Given the description of an element on the screen output the (x, y) to click on. 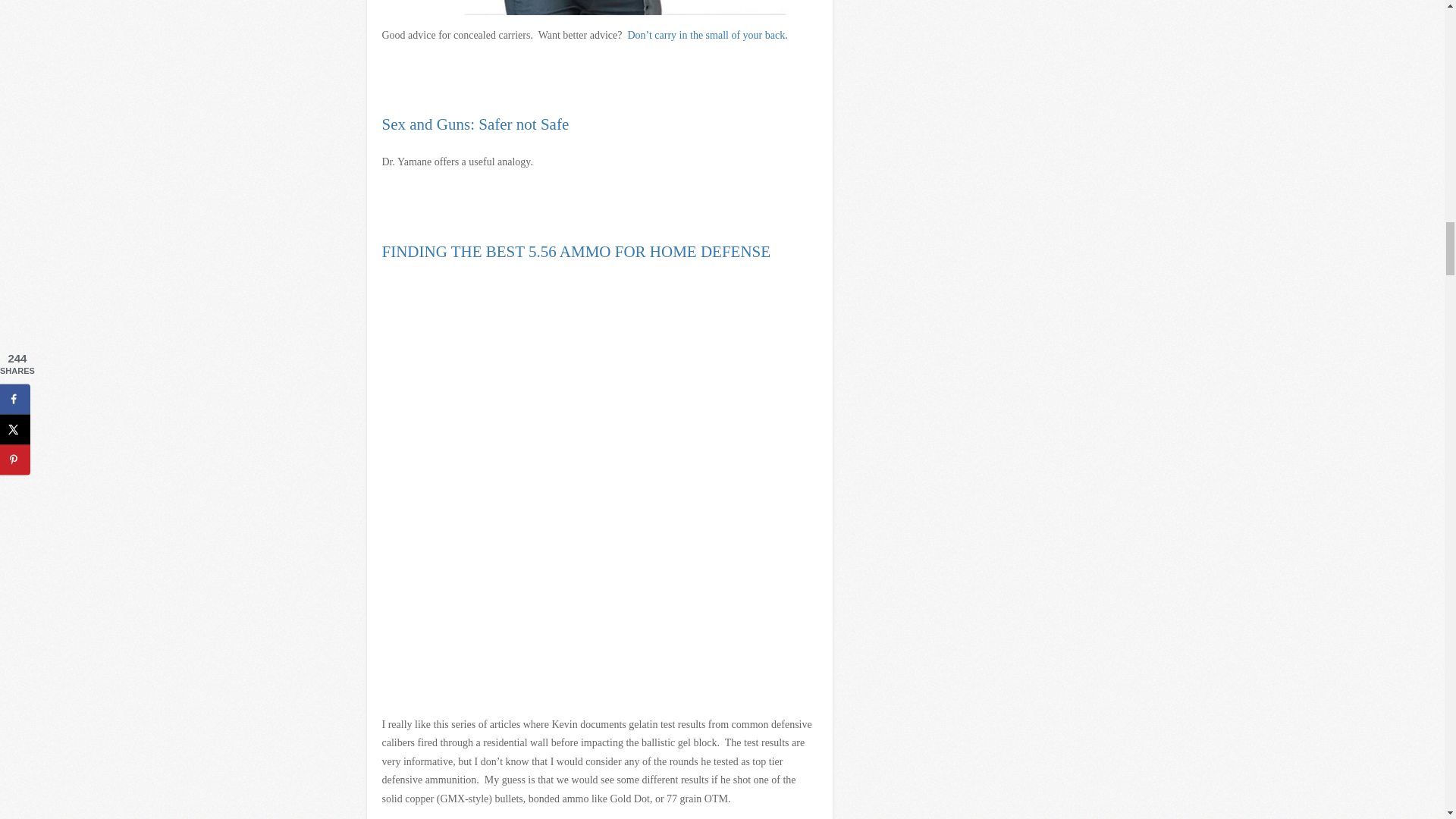
Sex and Guns: Safer not Safe (475, 124)
FINDING THE BEST 5.56 AMMO FOR HOME DEFENSE (576, 251)
